Given the description of an element on the screen output the (x, y) to click on. 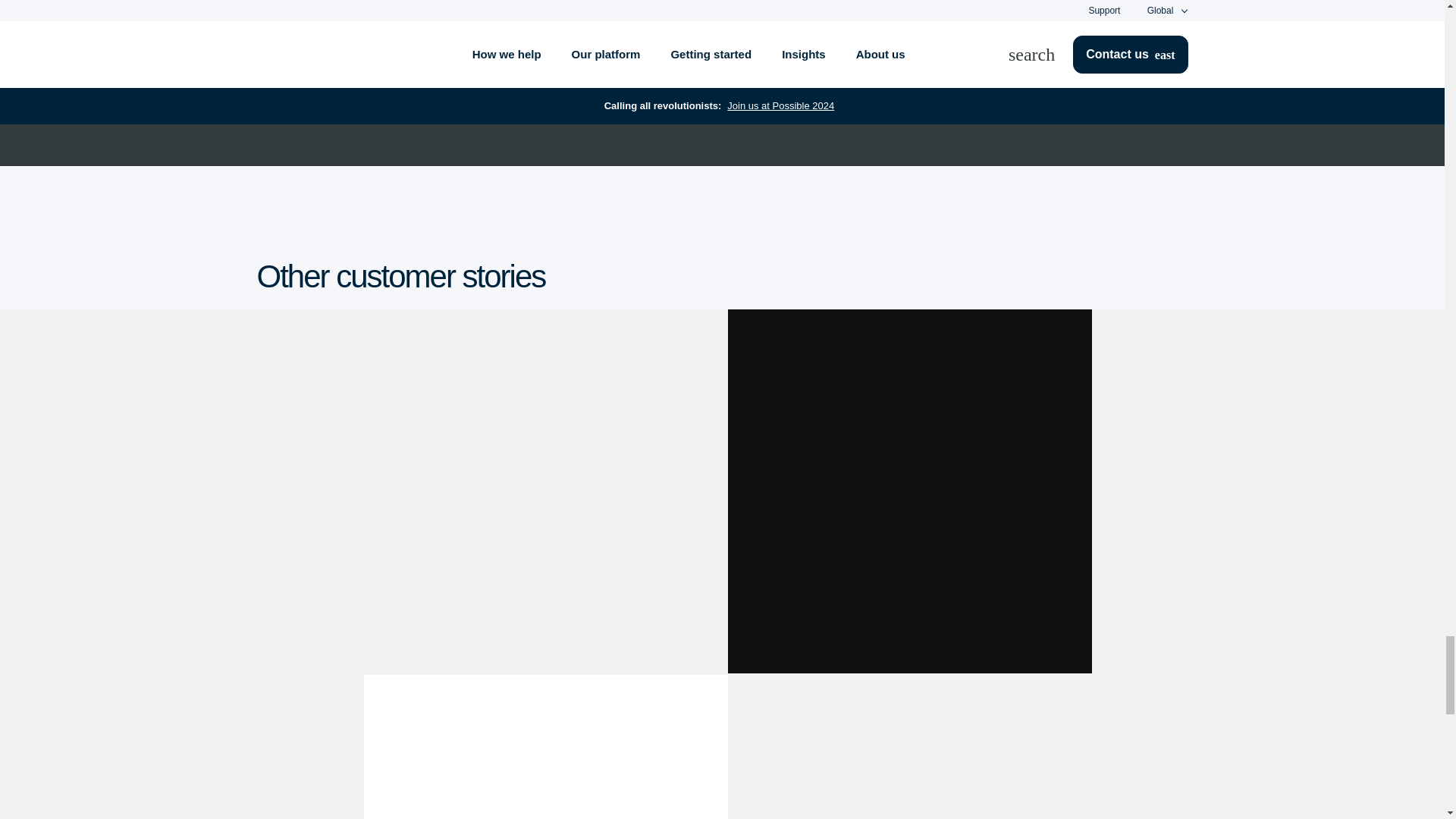
Submit (794, 13)
